Given the description of an element on the screen output the (x, y) to click on. 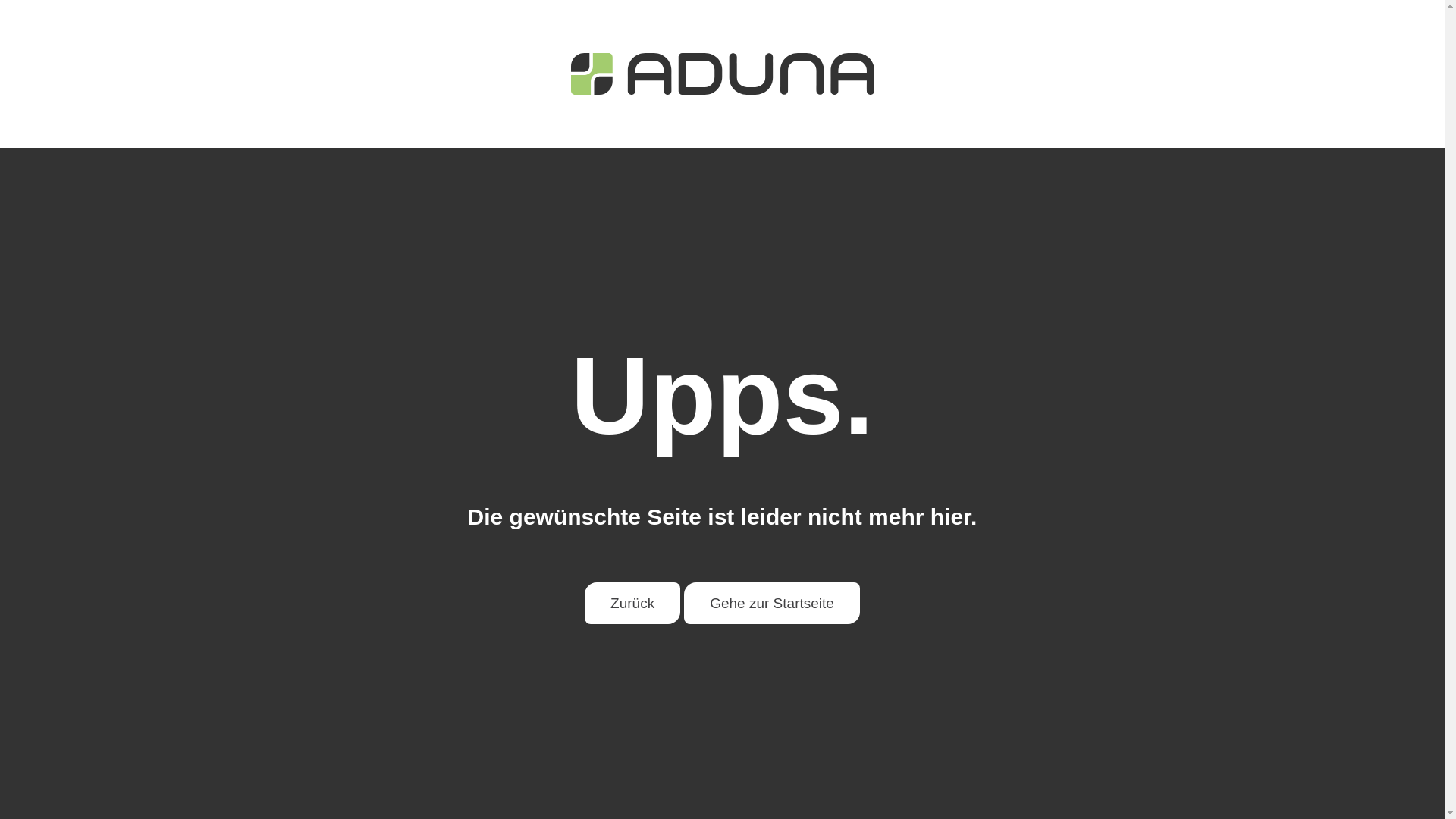
Gehe zur Startseite Element type: text (771, 603)
